Given the description of an element on the screen output the (x, y) to click on. 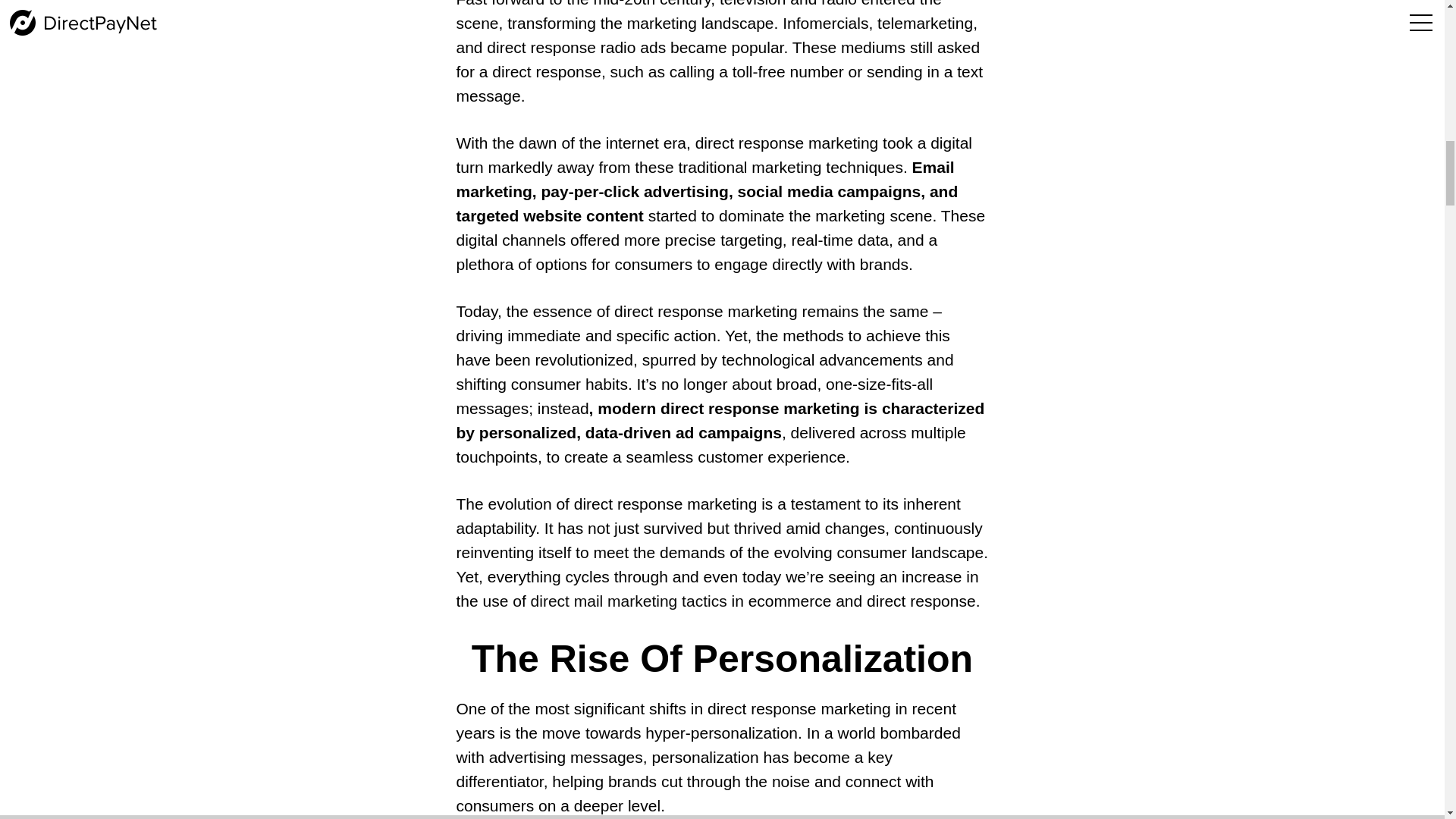
direct mail marketing tactics (628, 600)
